Given the description of an element on the screen output the (x, y) to click on. 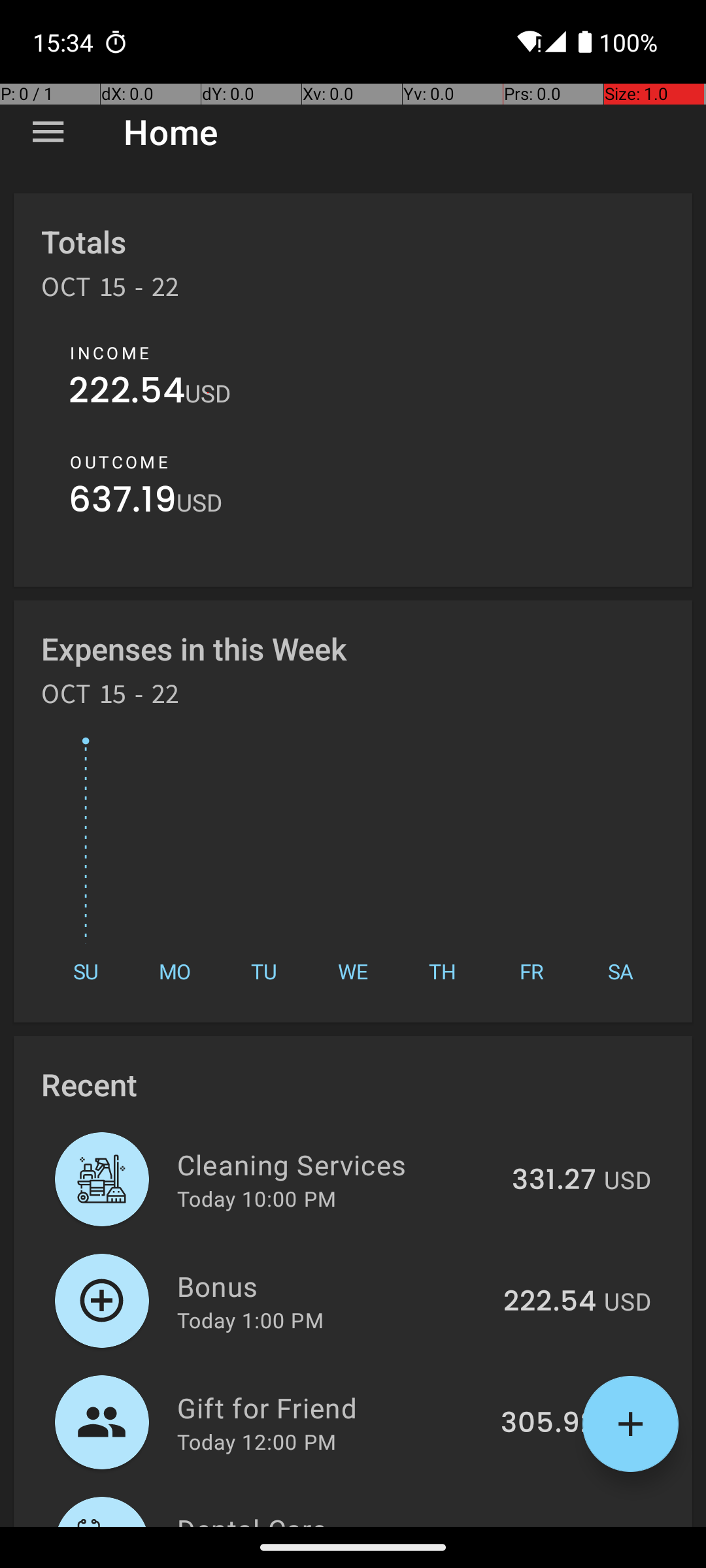
222.54 Element type: android.widget.TextView (126, 393)
637.19 Element type: android.widget.TextView (122, 502)
Cleaning Services Element type: android.widget.TextView (336, 1164)
331.27 Element type: android.widget.TextView (553, 1180)
Bonus Element type: android.widget.TextView (332, 1285)
Today 1:00 PM Element type: android.widget.TextView (250, 1320)
Today 12:00 PM Element type: android.widget.TextView (256, 1441)
305.92 Element type: android.widget.TextView (548, 1423)
Dental Care Element type: android.widget.TextView (339, 1518)
107.31 Element type: android.widget.TextView (555, 1524)
